Given the description of an element on the screen output the (x, y) to click on. 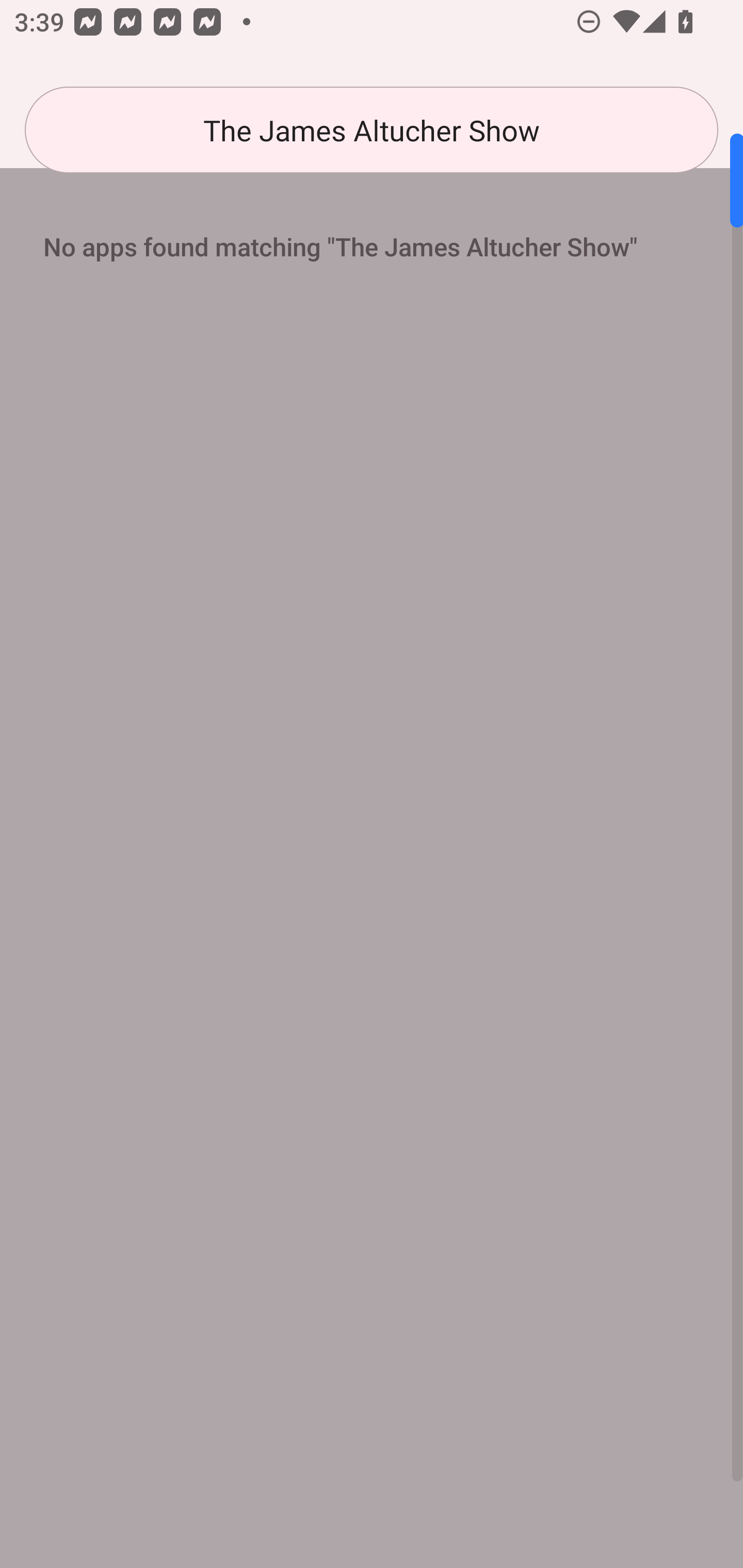
The James Altucher Show (371, 130)
